Given the description of an element on the screen output the (x, y) to click on. 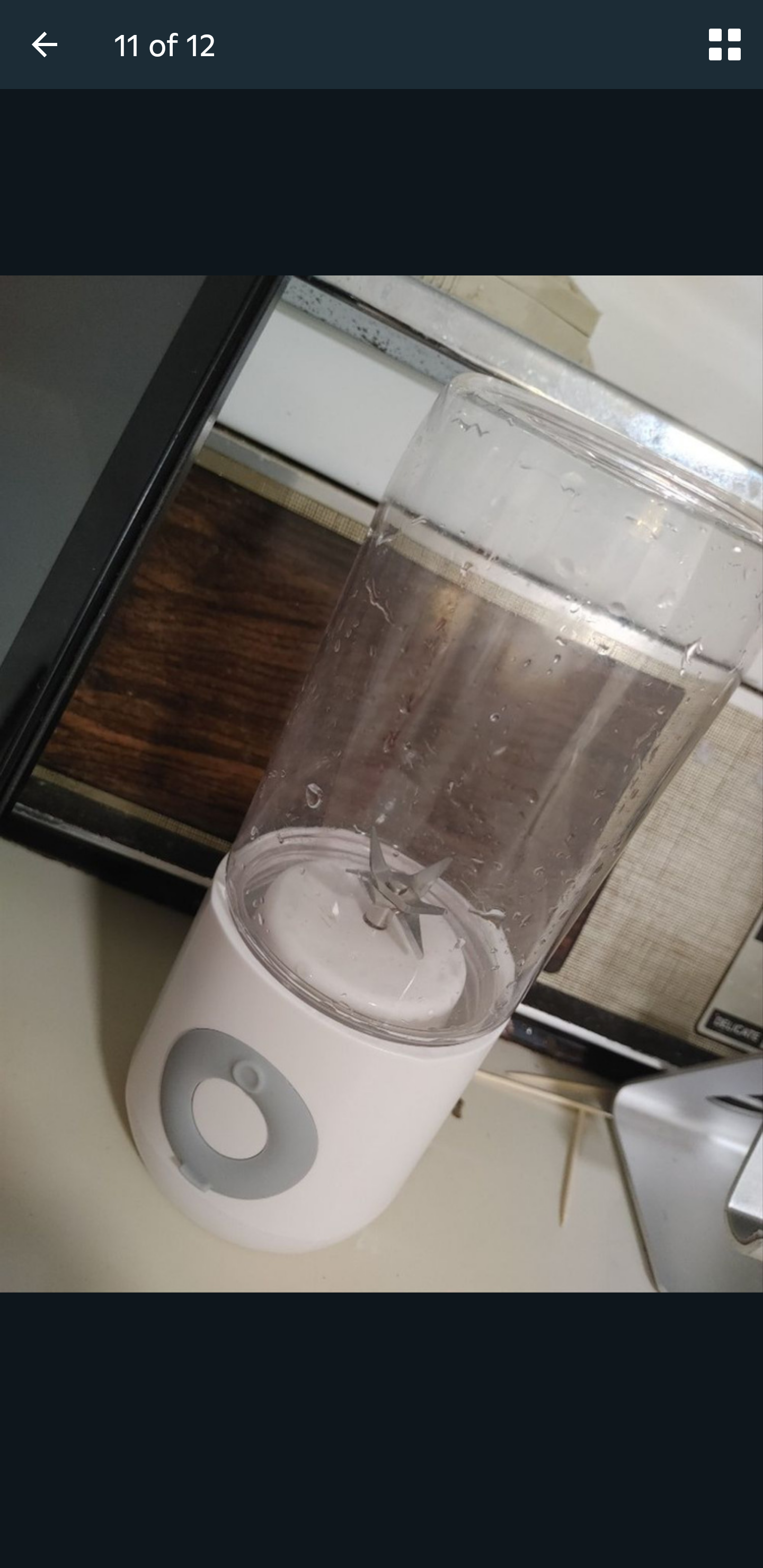
View all (724, 44)
